Given the description of an element on the screen output the (x, y) to click on. 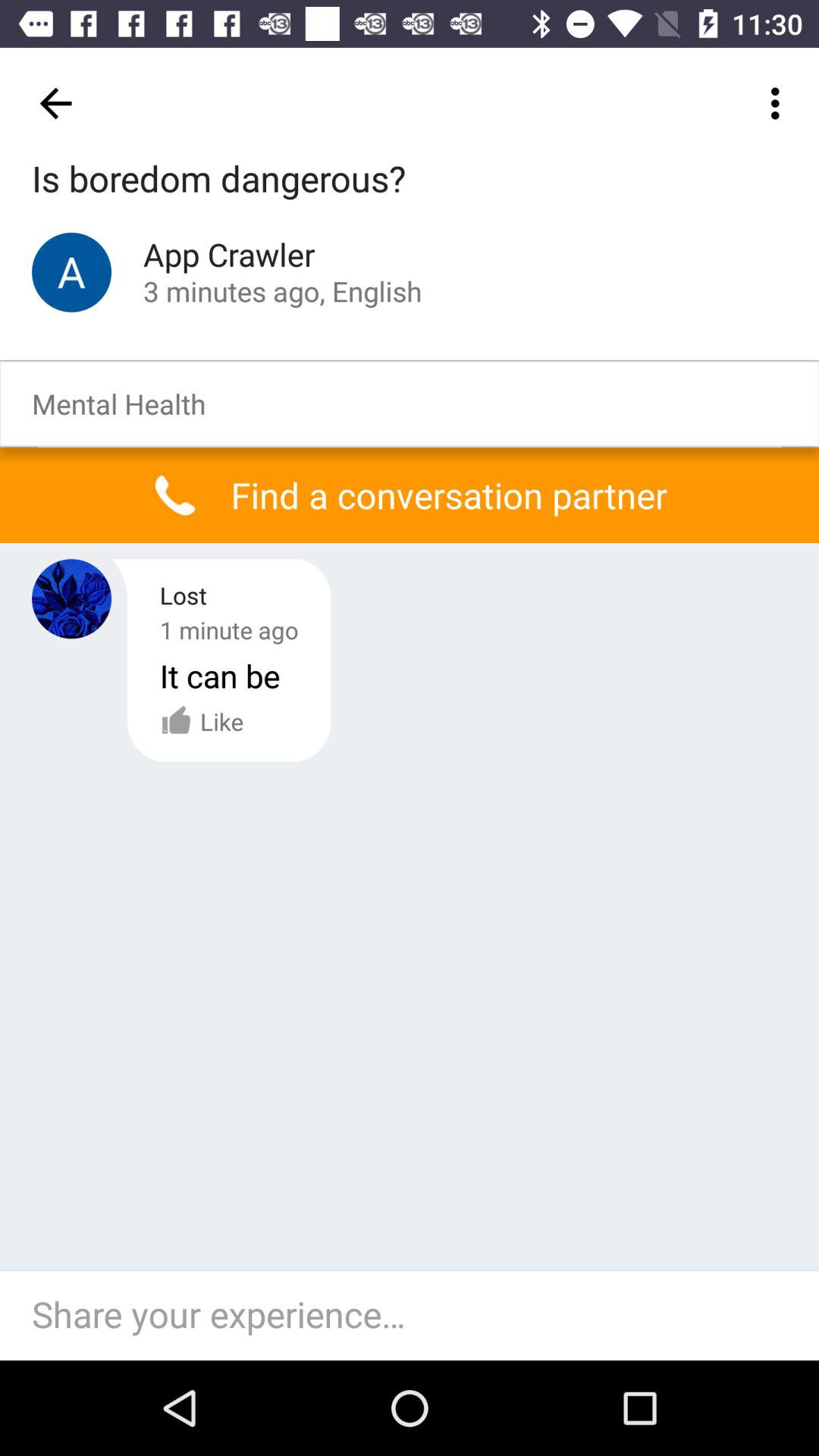
click on the like option (201, 722)
click on the three dot button (779, 103)
click on text box which says share your experience (417, 1315)
select the icon which is left side of the app crawler (71, 272)
